Given the description of an element on the screen output the (x, y) to click on. 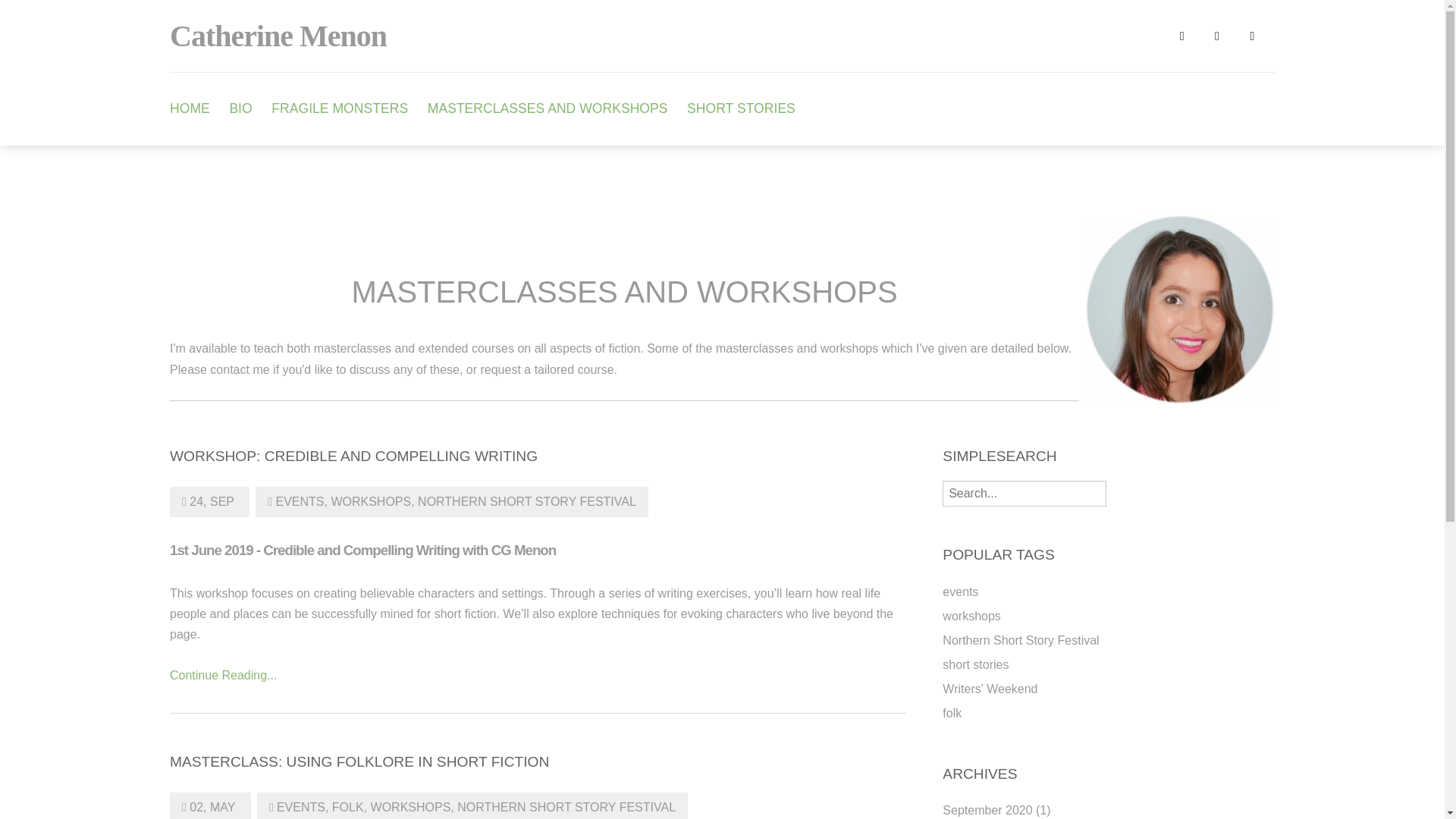
folk (951, 712)
NORTHERN SHORT STORY FESTIVAL (526, 501)
Continue Reading... (223, 675)
NORTHERN SHORT STORY FESTIVAL (566, 807)
FRAGILE MONSTERS (339, 109)
WORKSHOPS (412, 807)
short stories (975, 664)
events (960, 591)
Northern Short Story Festival (1020, 640)
EVENTS (300, 501)
